Given the description of an element on the screen output the (x, y) to click on. 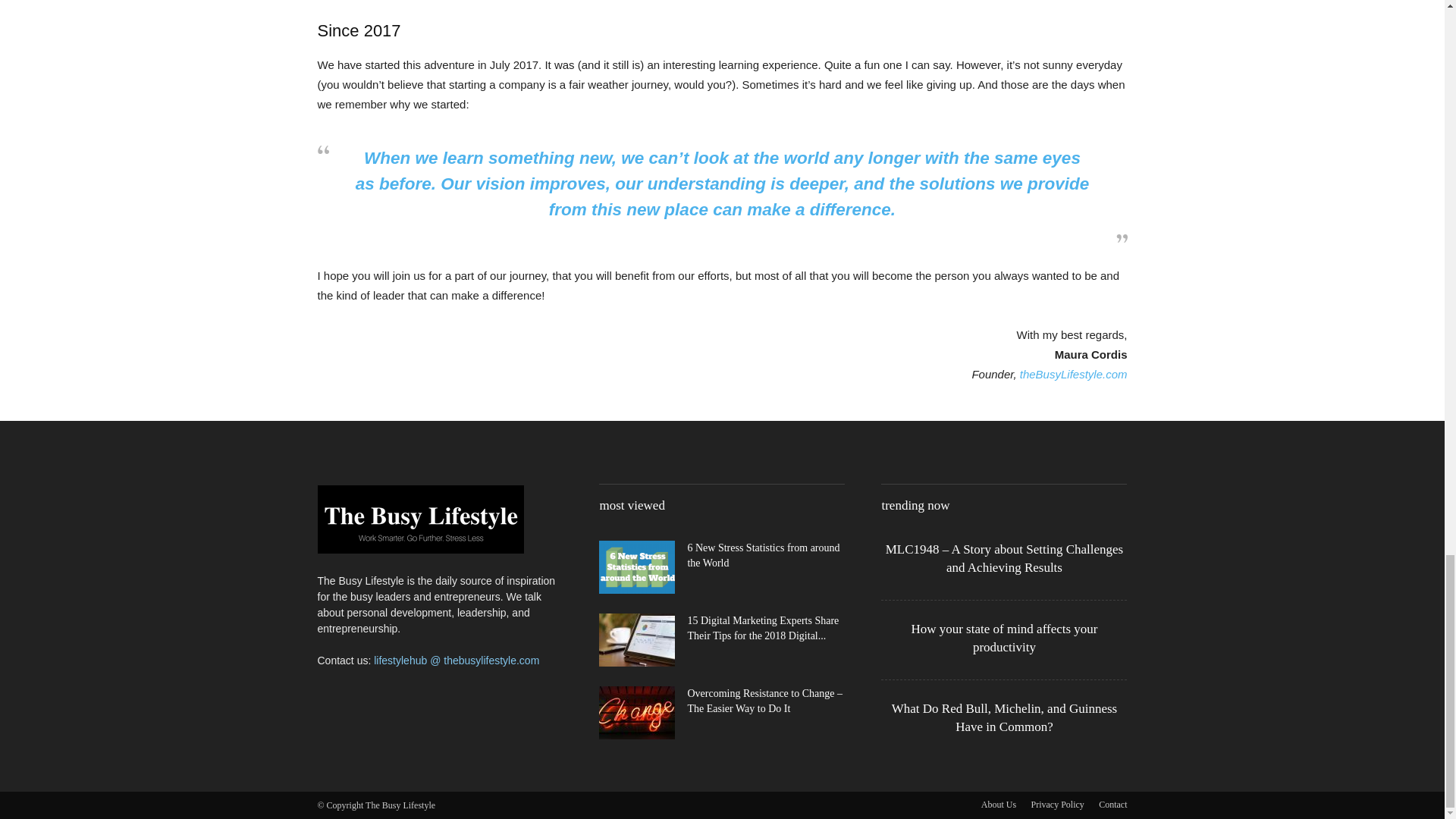
6 New Stress Statistics from around the World (636, 566)
theBusyLifestyle.com (1073, 373)
What Do Red Bull, Michelin, and Guinness Have in Common? (1003, 717)
6 New Stress Statistics from around the World (763, 555)
How your state of mind affects your productivity (1004, 637)
